Given the description of an element on the screen output the (x, y) to click on. 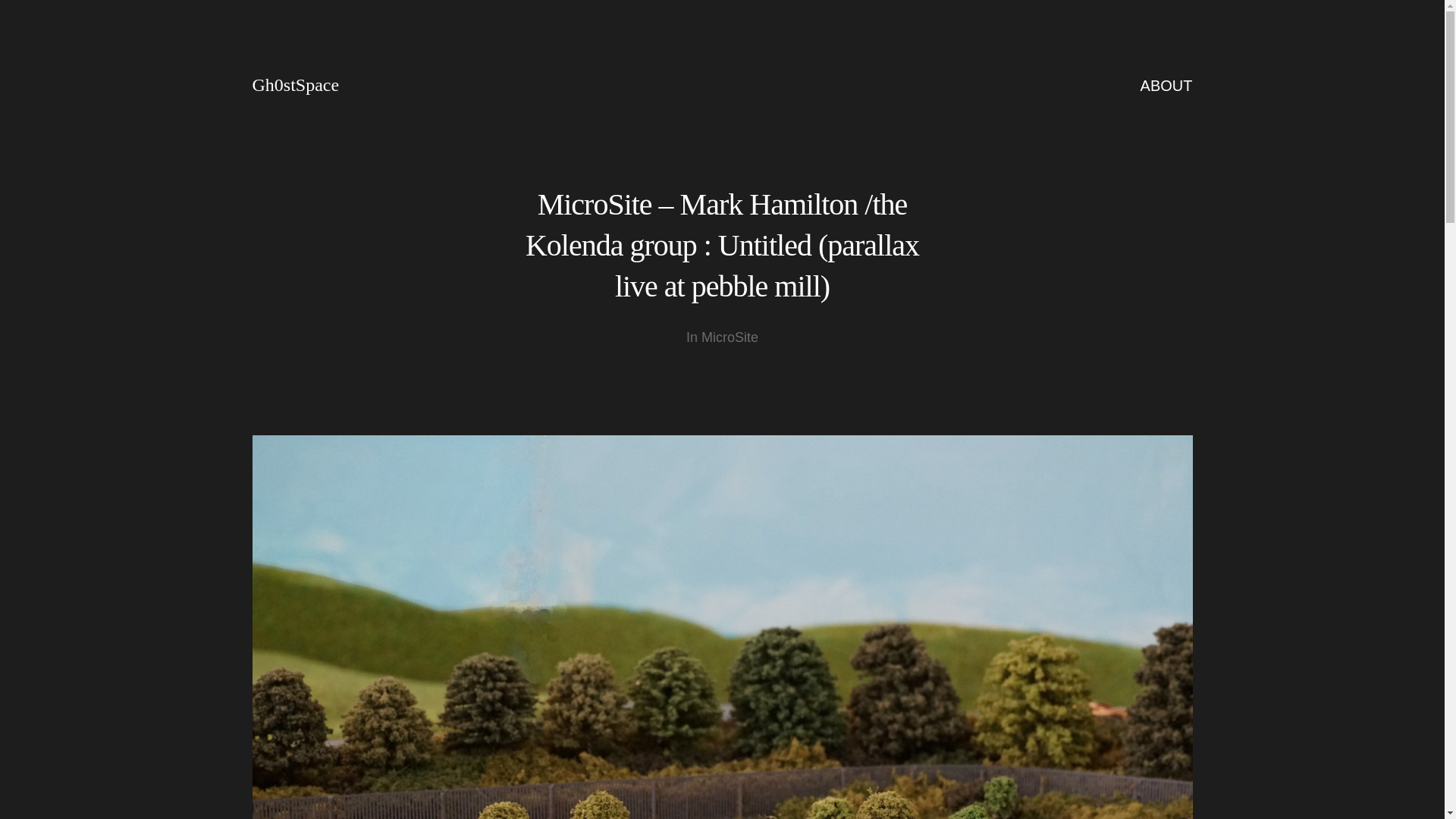
Gh0stSpace (295, 85)
MicroSite (729, 336)
ABOUT (1166, 85)
